Given the description of an element on the screen output the (x, y) to click on. 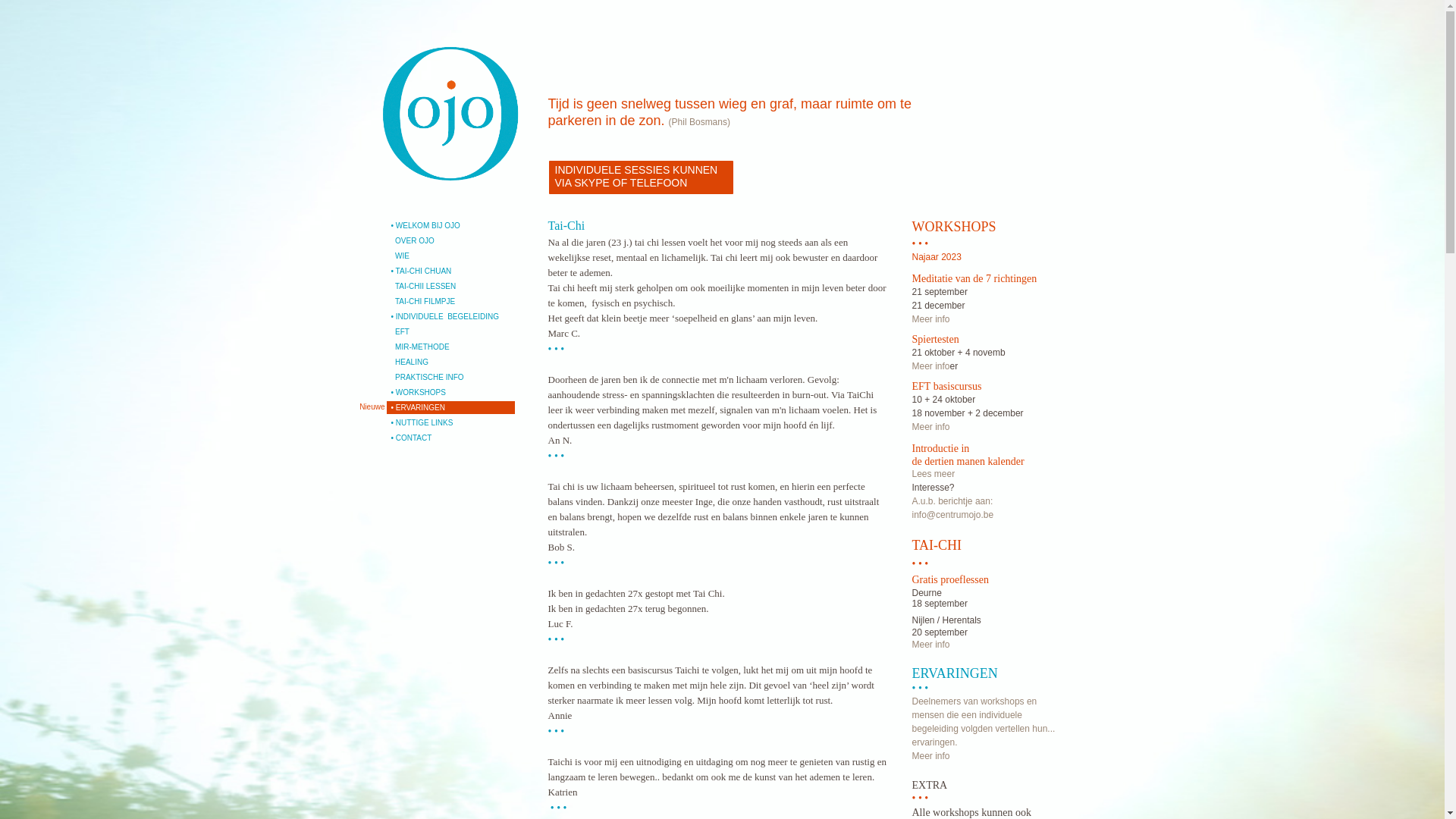
INDIVIDUELE SESSIES KUNNEN
VIA SKYPE OF TELEFOON Element type: text (641, 177)
info@centrumojo.be Element type: text (952, 514)
  MIR-METHODE Element type: text (450, 346)
  TAI-CHII LESSEN Element type: text (450, 285)
  WIE Element type: text (450, 255)
  HEALING Element type: text (450, 361)
Lees meer Element type: text (932, 473)
Meer info Element type: text (930, 755)
  OVER OJO Element type: text (450, 240)
Meer info Element type: text (930, 644)
Meer info Element type: text (930, 318)
Meer info Element type: text (930, 365)
Meer info Element type: text (930, 426)
  TAI-CHI FILMPJE Element type: text (450, 300)
20 september Element type: text (938, 632)
  PRAKTISCHE INFO Element type: text (450, 376)
  EFT Element type: text (450, 331)
